Given the description of an element on the screen output the (x, y) to click on. 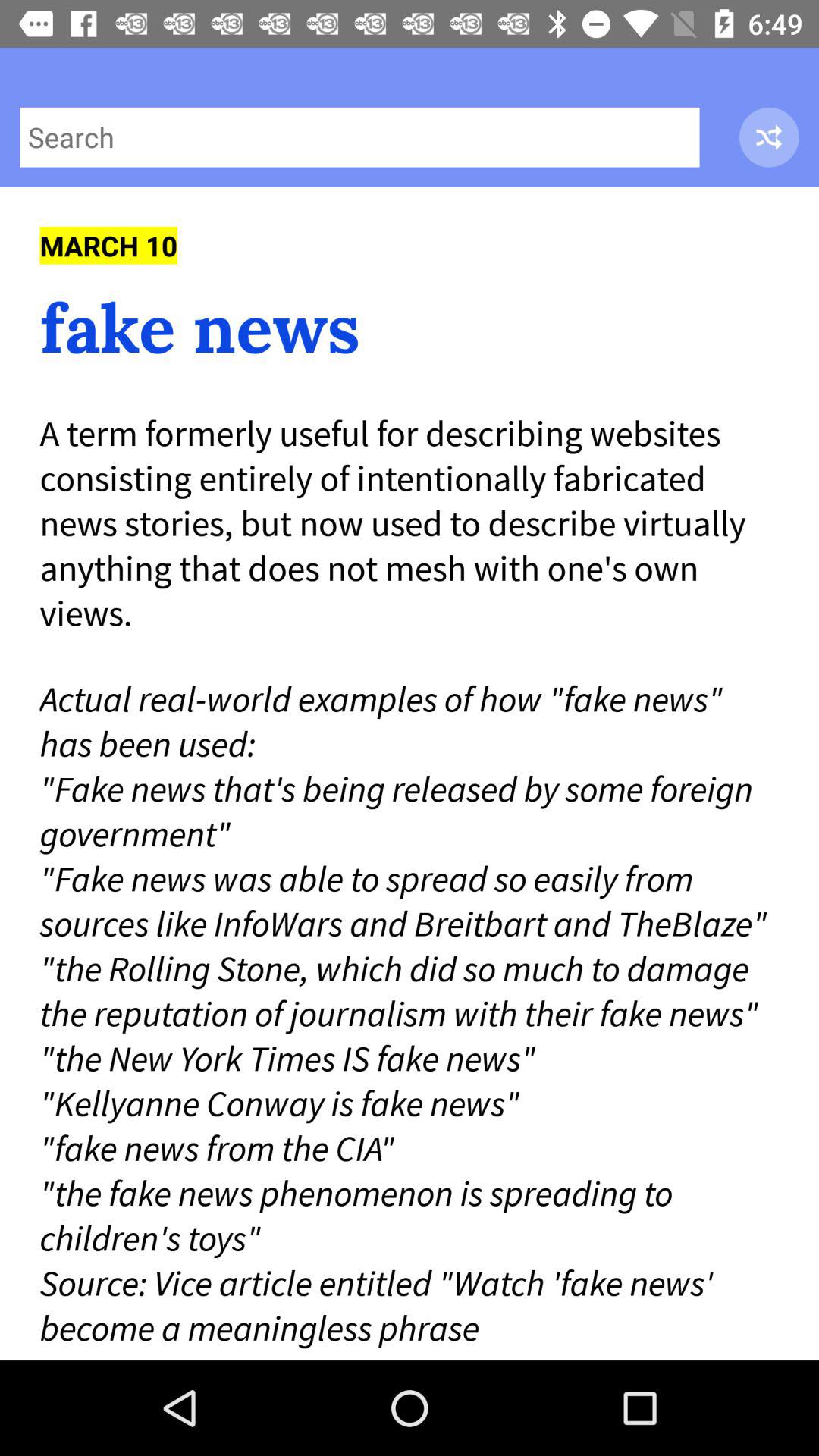
select the icon above march 10 item (359, 137)
